Given the description of an element on the screen output the (x, y) to click on. 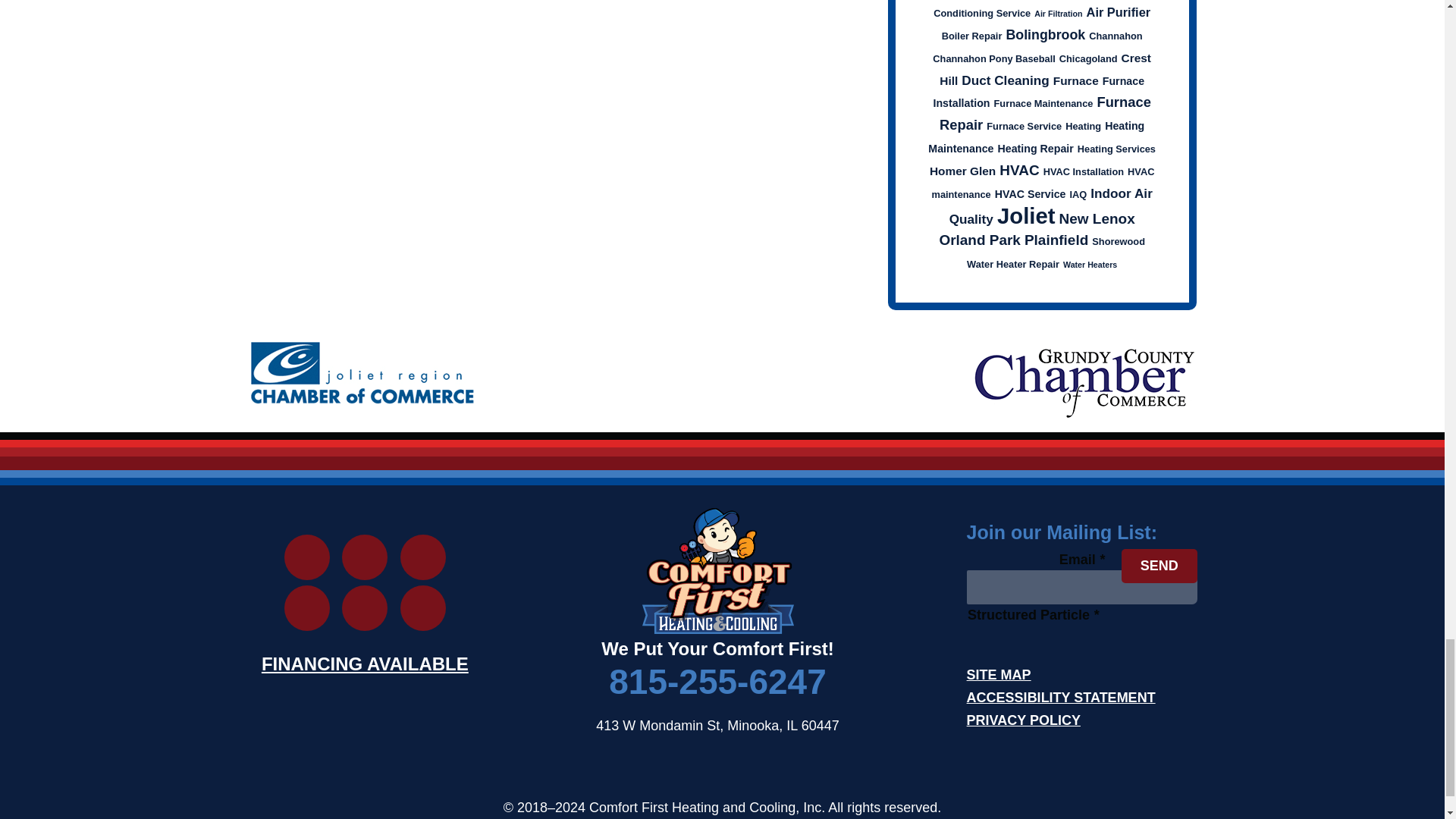
Comfort First Heating and Cooling, Inc. on Google Maps (306, 607)
Comfort First Heating and Cooling, Inc. on Instagram (306, 556)
Comfort First Heating and Cooling, Inc. on Twitter (364, 607)
Comfort First Heating and Cooling, Inc. on Facebook (422, 607)
Comfort First Heating and Cooling, Inc. on LinkedIn (422, 556)
Comfort First Heating and Cooling, Inc. on Yelp (364, 556)
